Given the description of an element on the screen output the (x, y) to click on. 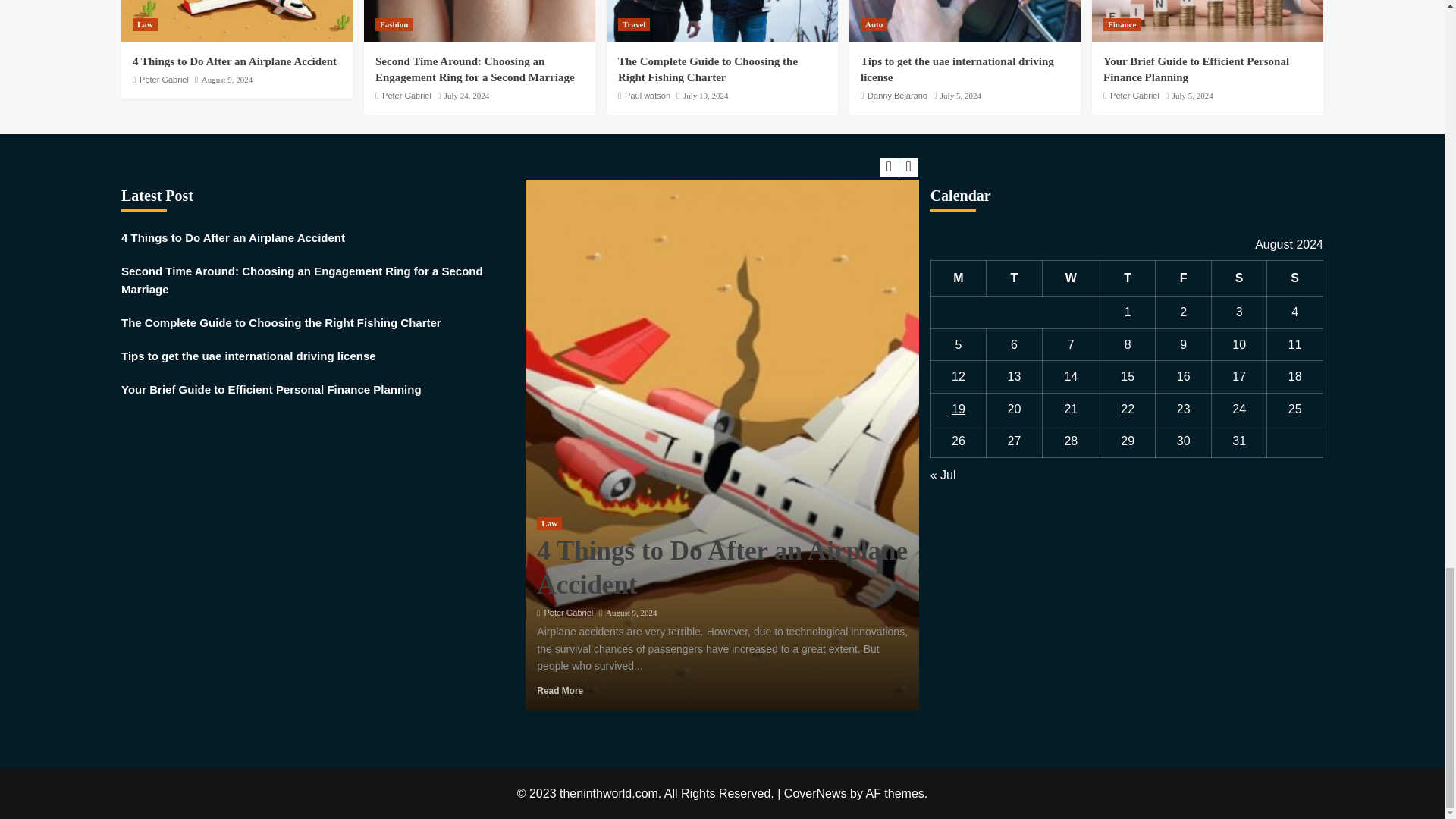
Sunday (1294, 278)
Wednesday (1070, 278)
Monday (958, 278)
Tuesday (1014, 278)
Thursday (1127, 278)
Saturday (1238, 278)
Friday (1183, 278)
